Given the description of an element on the screen output the (x, y) to click on. 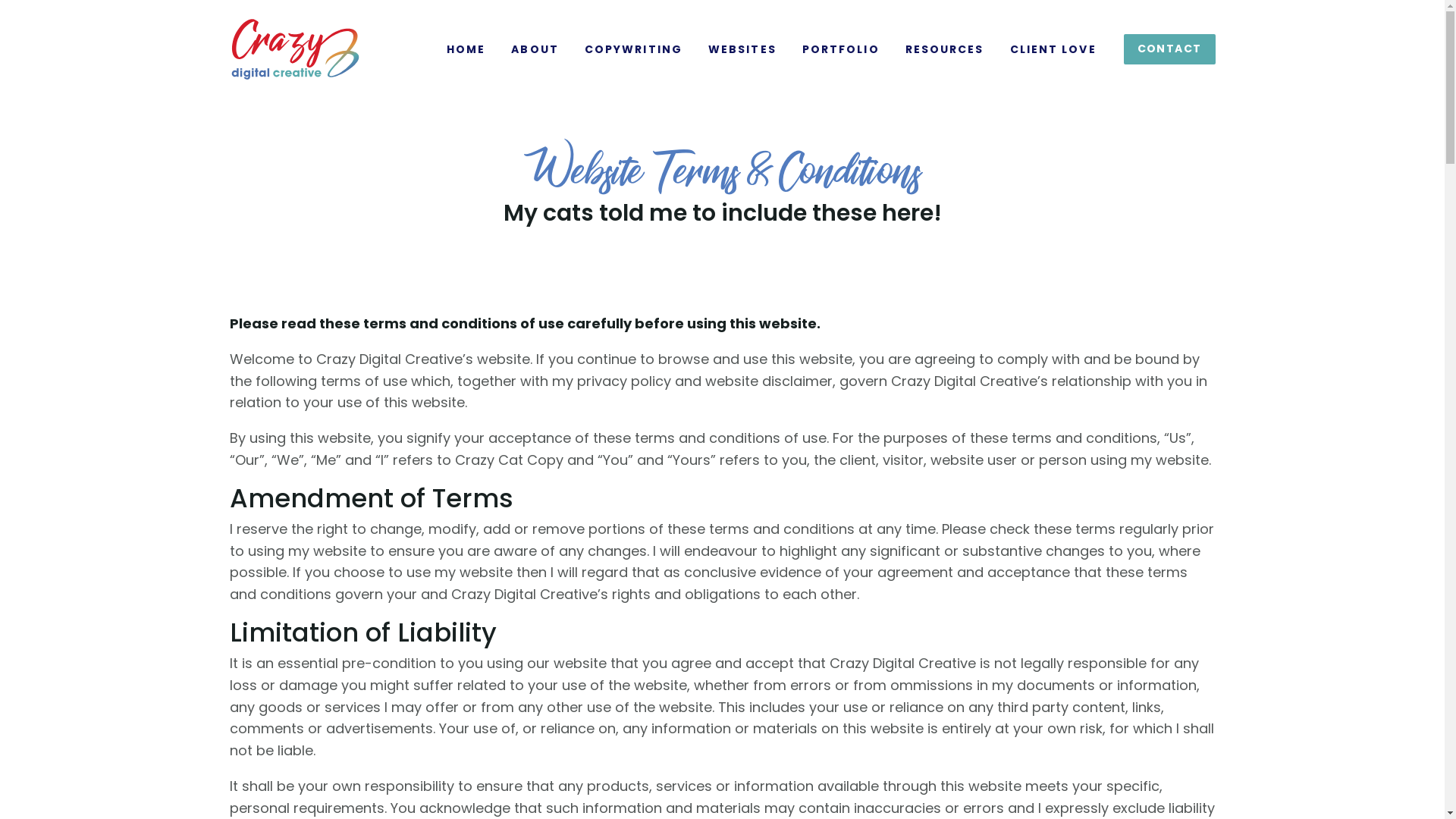
PORTFOLIO Element type: text (840, 49)
Crazy Digital Creative Element type: hover (294, 49)
WEBSITES Element type: text (742, 49)
COPYWRITING Element type: text (633, 49)
RESOURCES Element type: text (944, 49)
CLIENT LOVE Element type: text (1053, 49)
HOME Element type: text (465, 49)
CONTACT Element type: text (1169, 49)
ABOUT Element type: text (534, 49)
